Given the description of an element on the screen output the (x, y) to click on. 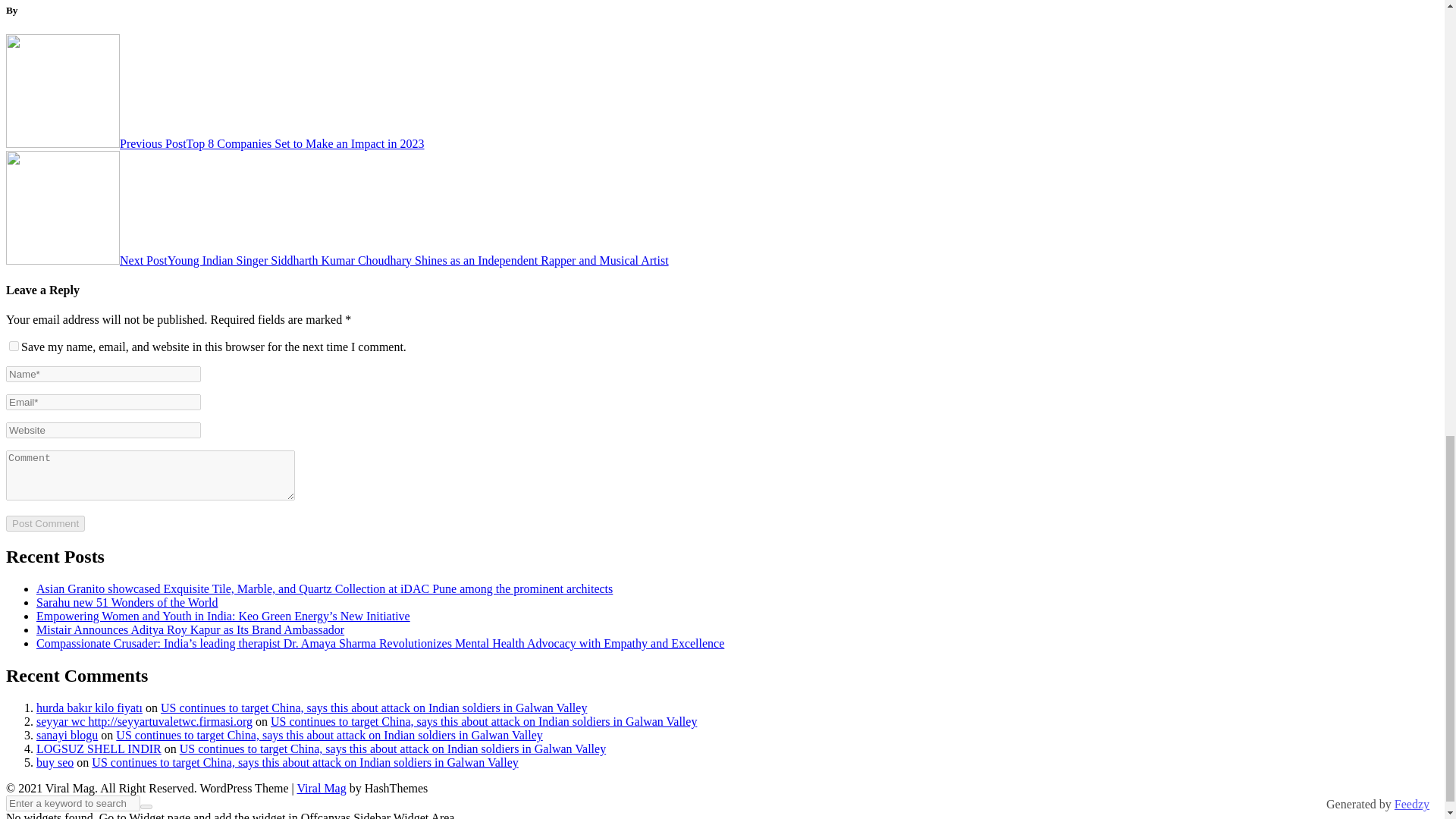
Post Comment (44, 523)
Viral Mag (321, 788)
LOGSUZ SHELL INDIR (98, 748)
Mistair Announces Aditya Roy Kapur as Its Brand Ambassador (189, 629)
Sarahu new 51 Wonders of the World (126, 602)
sanayi blogu (66, 735)
Download Viral News (321, 788)
buy seo (55, 762)
